Given the description of an element on the screen output the (x, y) to click on. 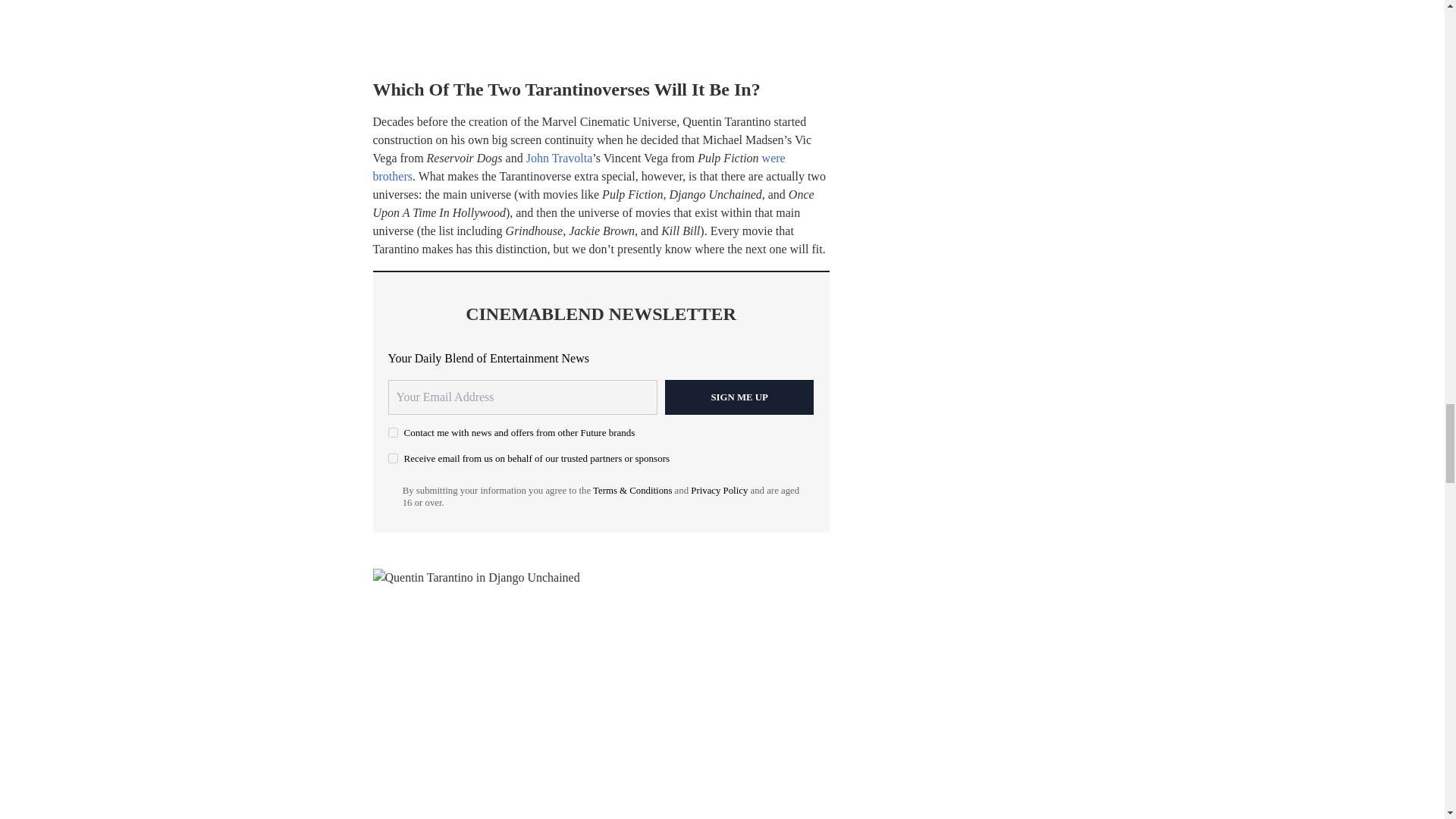
on (392, 458)
on (392, 432)
Sign me up (739, 397)
